Given the description of an element on the screen output the (x, y) to click on. 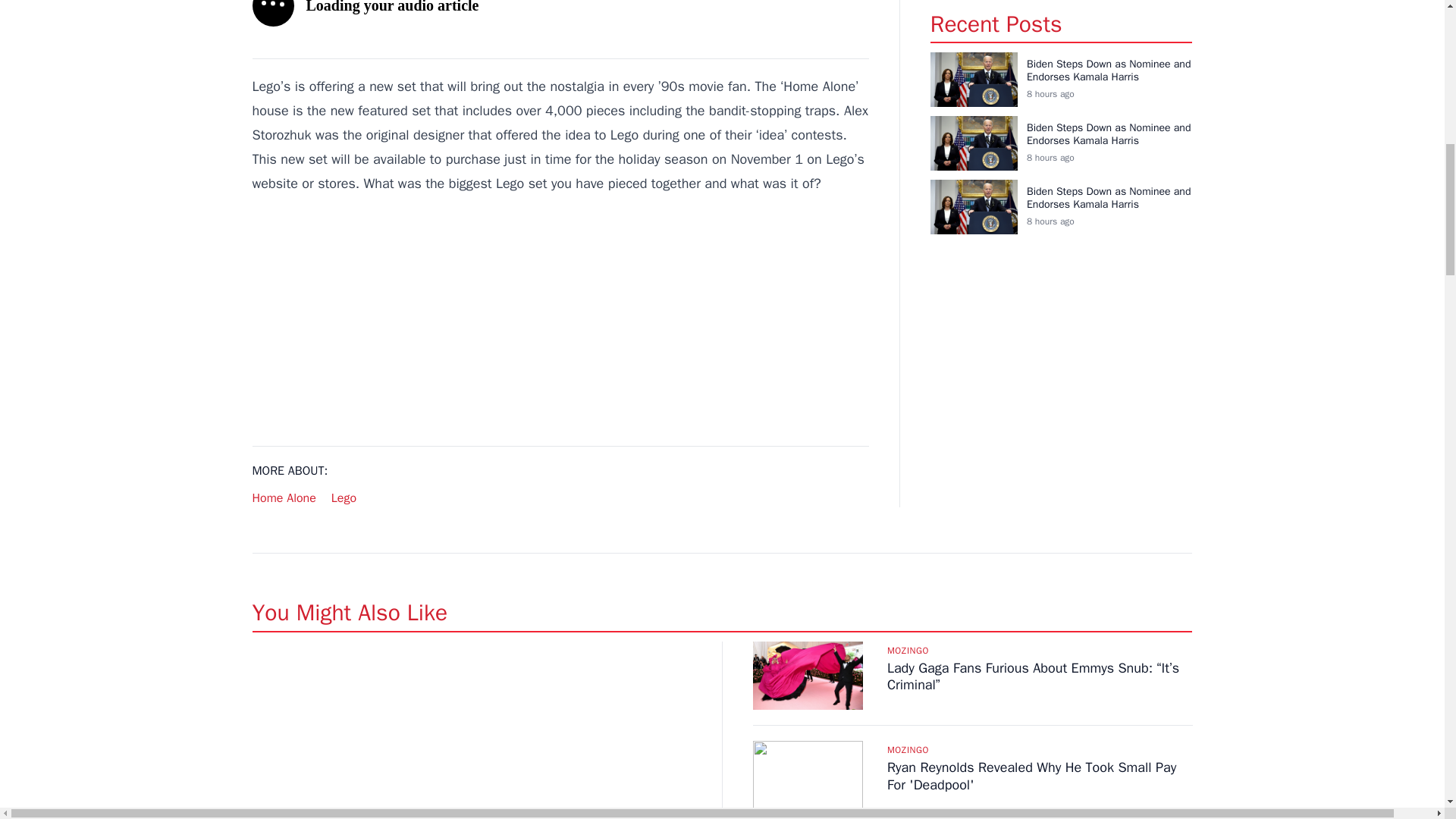
3rd party ad content (560, 320)
